Given the description of an element on the screen output the (x, y) to click on. 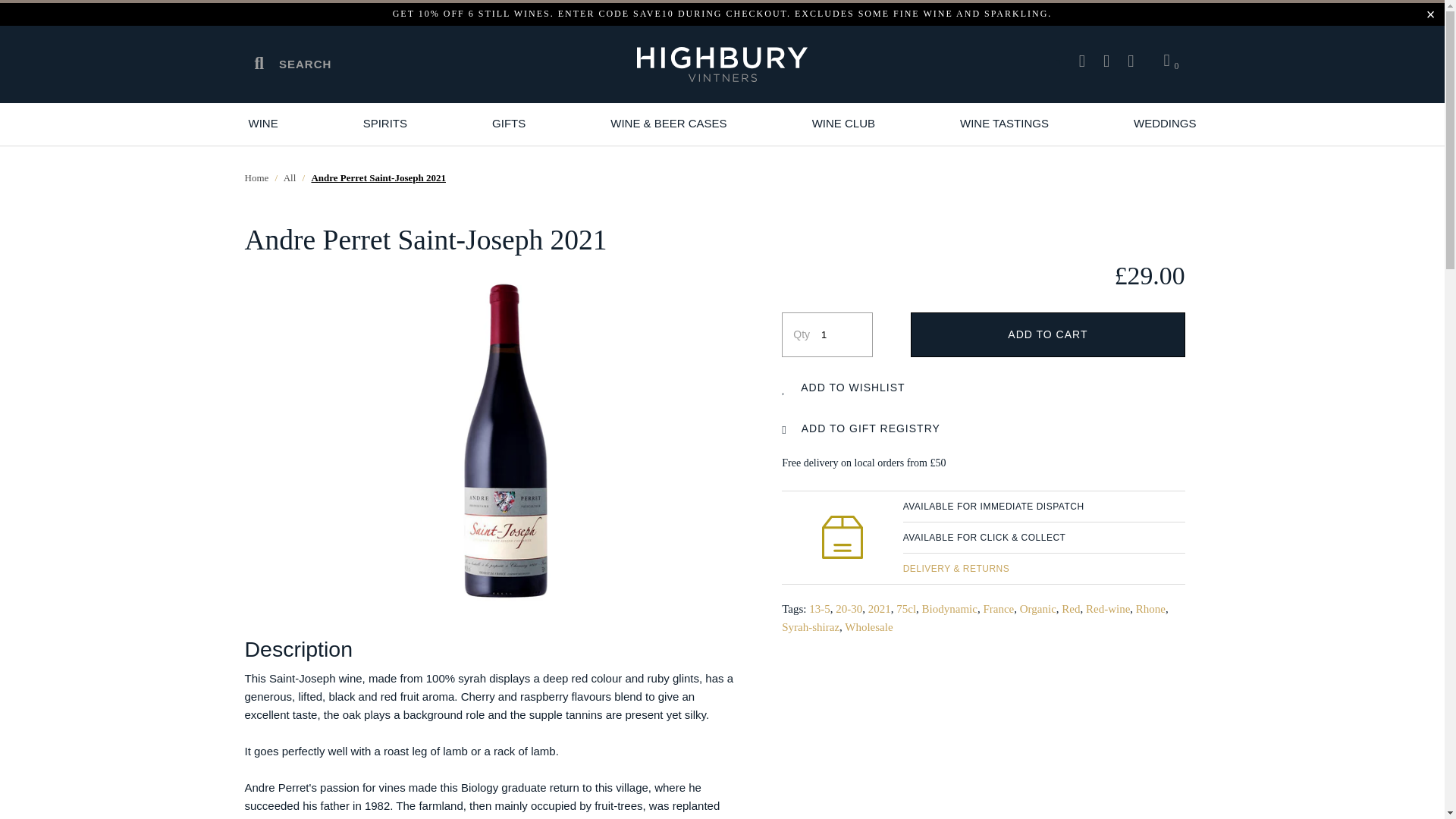
Add to Wishlist (860, 386)
1 (839, 334)
Highbury Vintners (721, 65)
Highbury Vintners (255, 176)
All (290, 176)
Add to Gift Registry (871, 427)
